Given the description of an element on the screen output the (x, y) to click on. 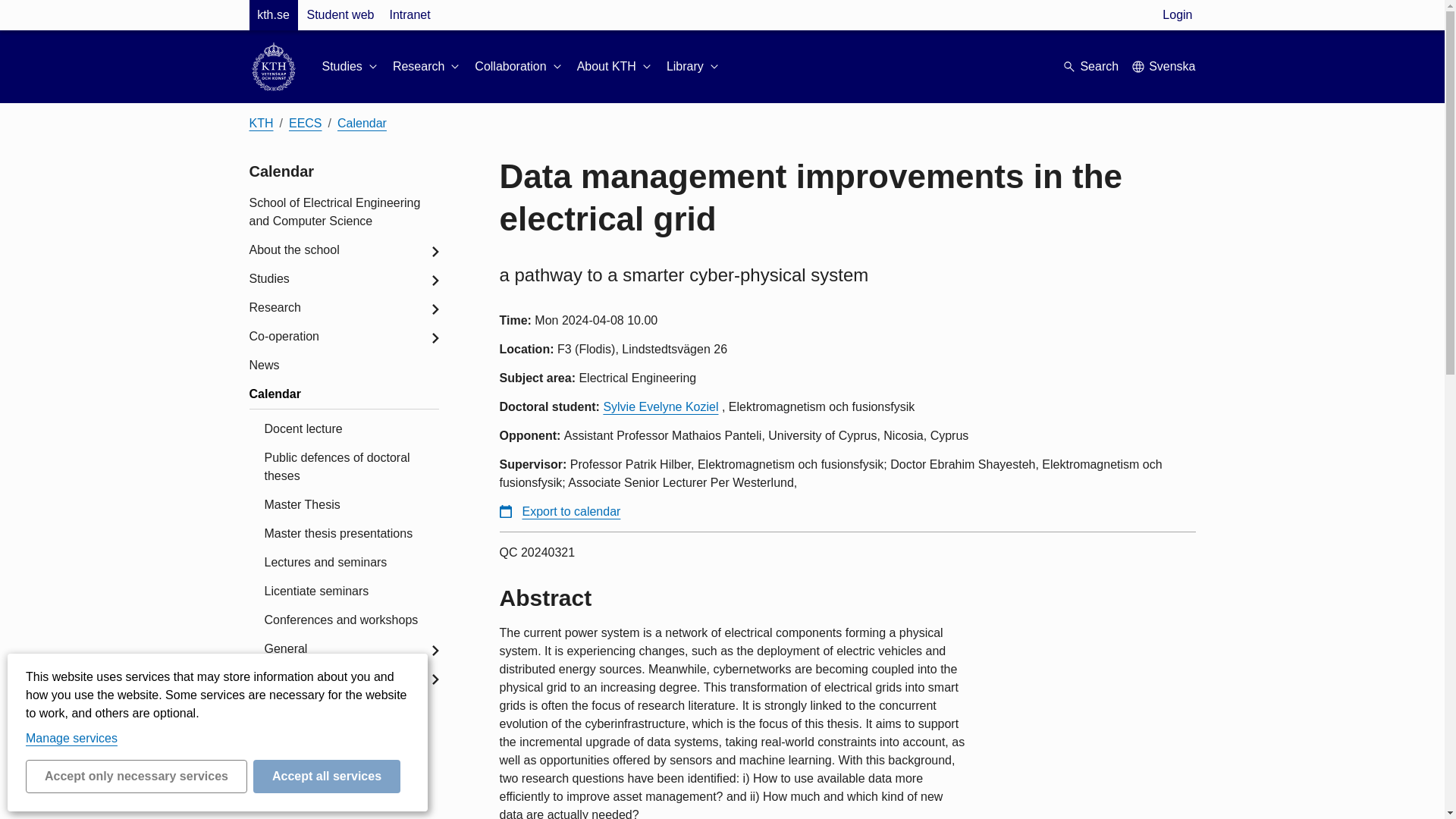
Student web (339, 15)
kth.se (272, 15)
Accept all services (326, 776)
Manage services (71, 738)
Accept only necessary services (136, 776)
Studies (350, 66)
Intranet (408, 15)
Library (694, 66)
Research (428, 66)
Collaboration (519, 66)
About KTH (614, 66)
Login (1176, 15)
